Given the description of an element on the screen output the (x, y) to click on. 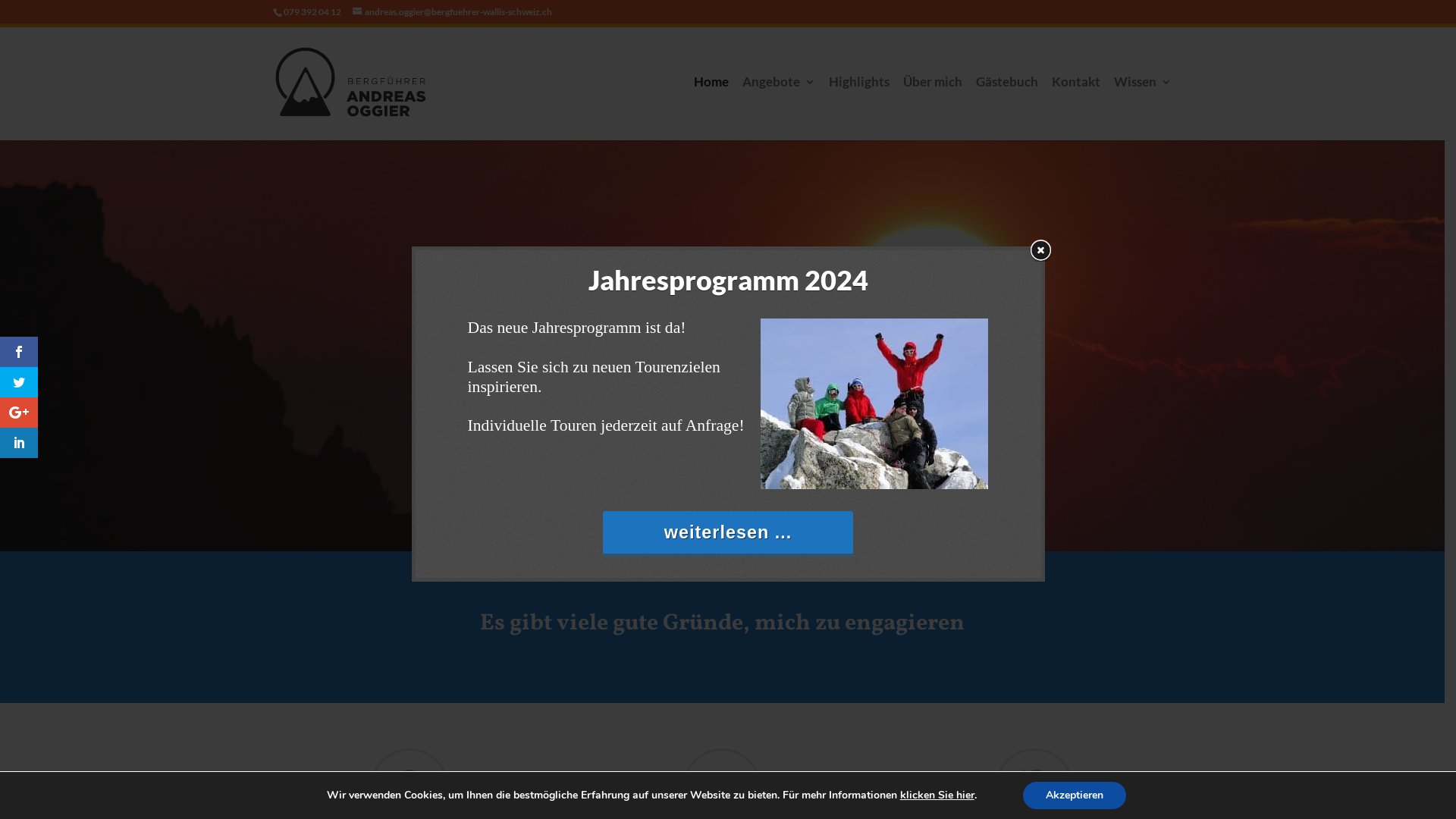
klicken Sie hier Element type: text (937, 794)
12 Element type: text (792, 511)
andreas.oggier@bergfuehrer-wallis-schweiz.ch Element type: text (452, 11)
6 Element type: text (715, 511)
Wissen Element type: text (1142, 108)
8 Element type: text (740, 511)
Angebote Element type: text (778, 108)
10 Element type: text (766, 511)
5 Element type: text (703, 511)
9 Element type: text (754, 511)
Kontakt Element type: text (1075, 108)
Home Element type: text (710, 108)
Highlights Element type: text (858, 108)
1 Element type: text (651, 511)
3 Element type: text (677, 511)
Akzeptieren Element type: text (1074, 795)
7 Element type: text (728, 511)
2 Element type: text (663, 511)
4 Element type: text (689, 511)
11 Element type: text (780, 511)
